Given the description of an element on the screen output the (x, y) to click on. 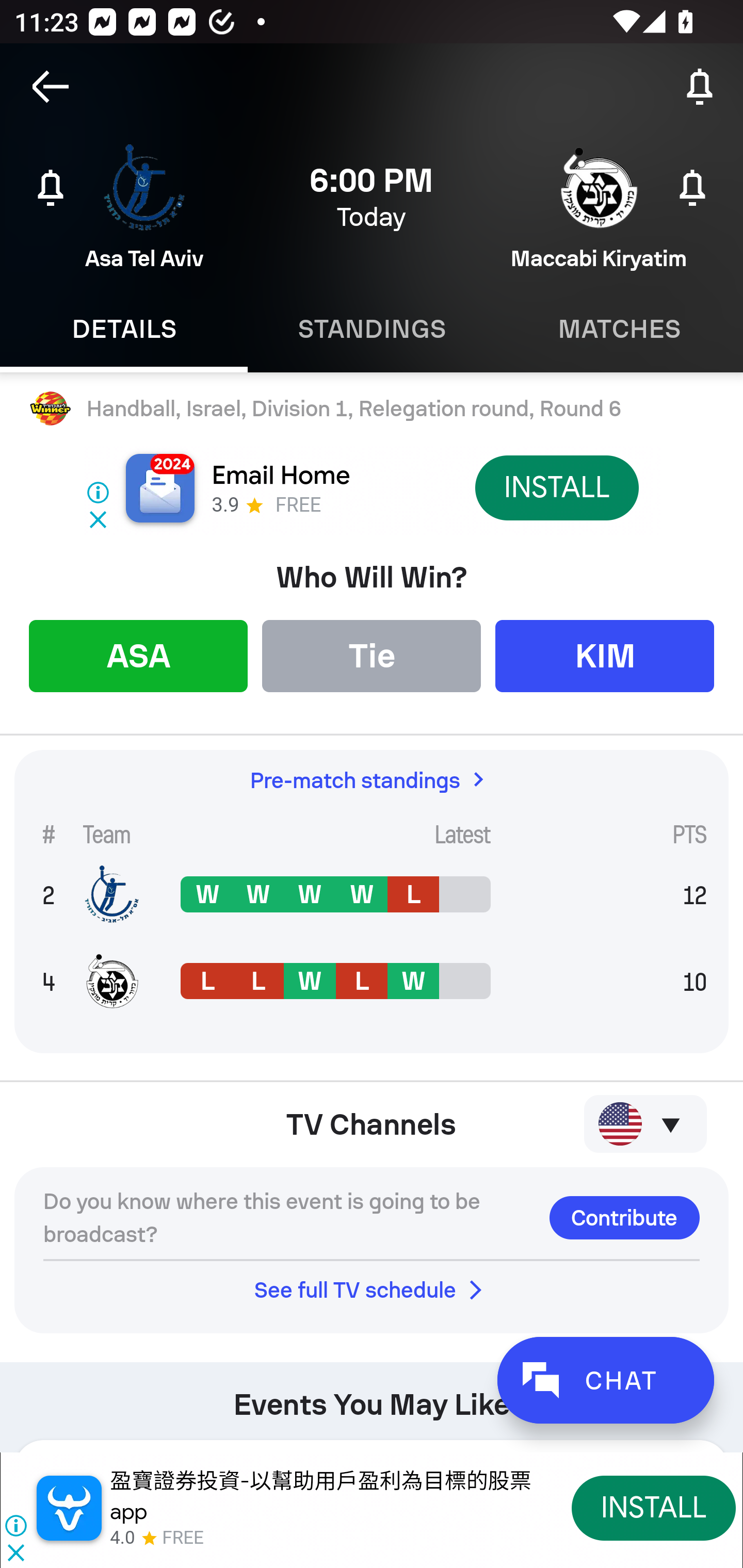
Navigate up (50, 86)
Standings STANDINGS (371, 329)
Matches MATCHES (619, 329)
INSTALL (556, 487)
Email Home (280, 475)
ASA (137, 655)
Tie (371, 655)
KIM (604, 655)
Contribute (624, 1217)
See full TV schedule (371, 1289)
CHAT (605, 1380)
盈寶證券投資-以幫助用戶盈利為目標的股票 app 盈寶證券投資-以幫助用戶盈利為目標的股票 app (320, 1496)
INSTALL (654, 1507)
